Given the description of an element on the screen output the (x, y) to click on. 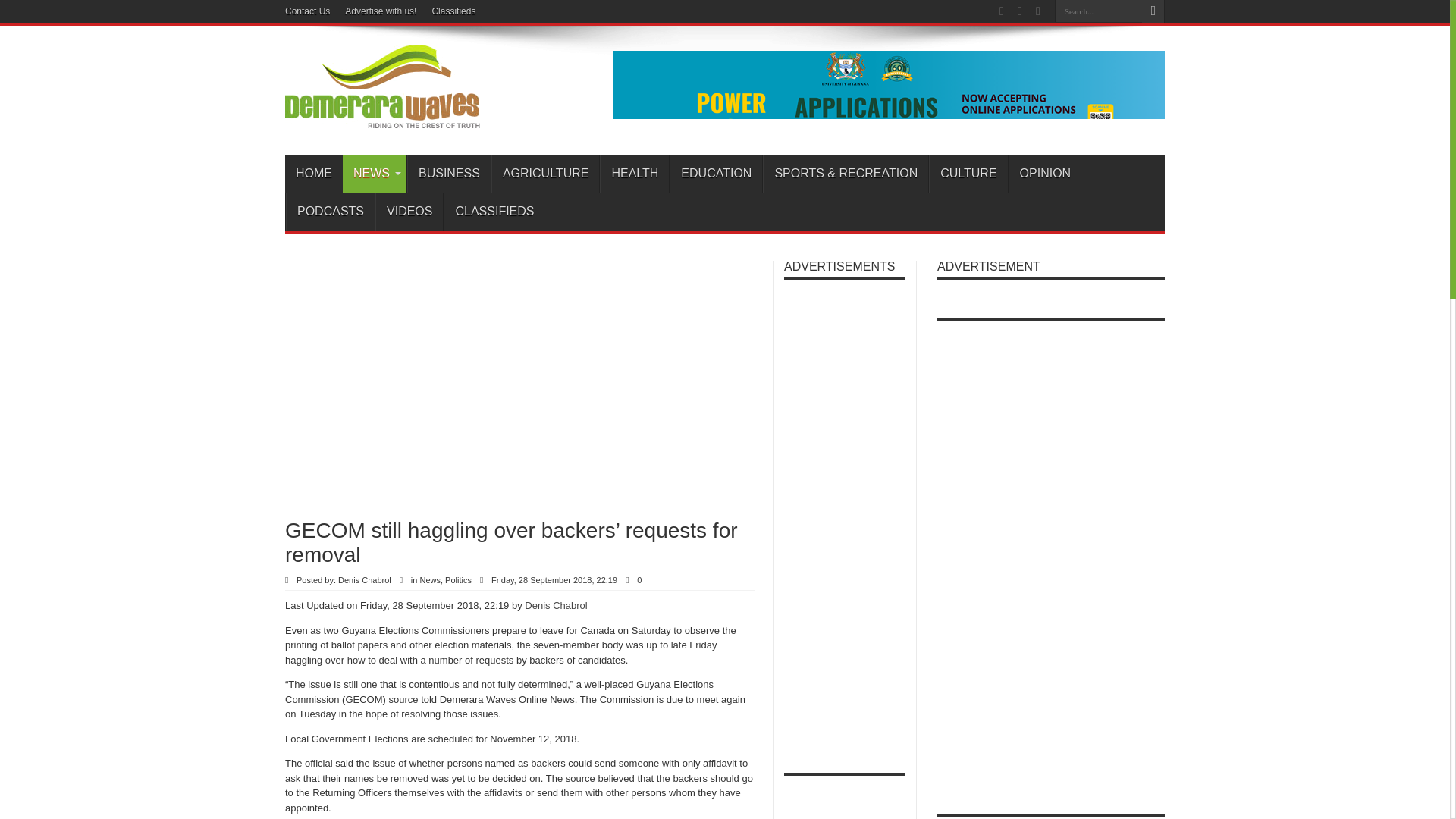
Advertise with us! (380, 11)
VIDEOS (408, 211)
Contact Us (307, 11)
Advertisement (462, 382)
Classifieds (453, 11)
Search (1152, 11)
Demerara Waves Online News- Guyana (382, 116)
Search... (1097, 11)
OPINION (1045, 173)
PODCASTS (329, 211)
CLASSIFIEDS (494, 211)
CULTURE (967, 173)
